Given the description of an element on the screen output the (x, y) to click on. 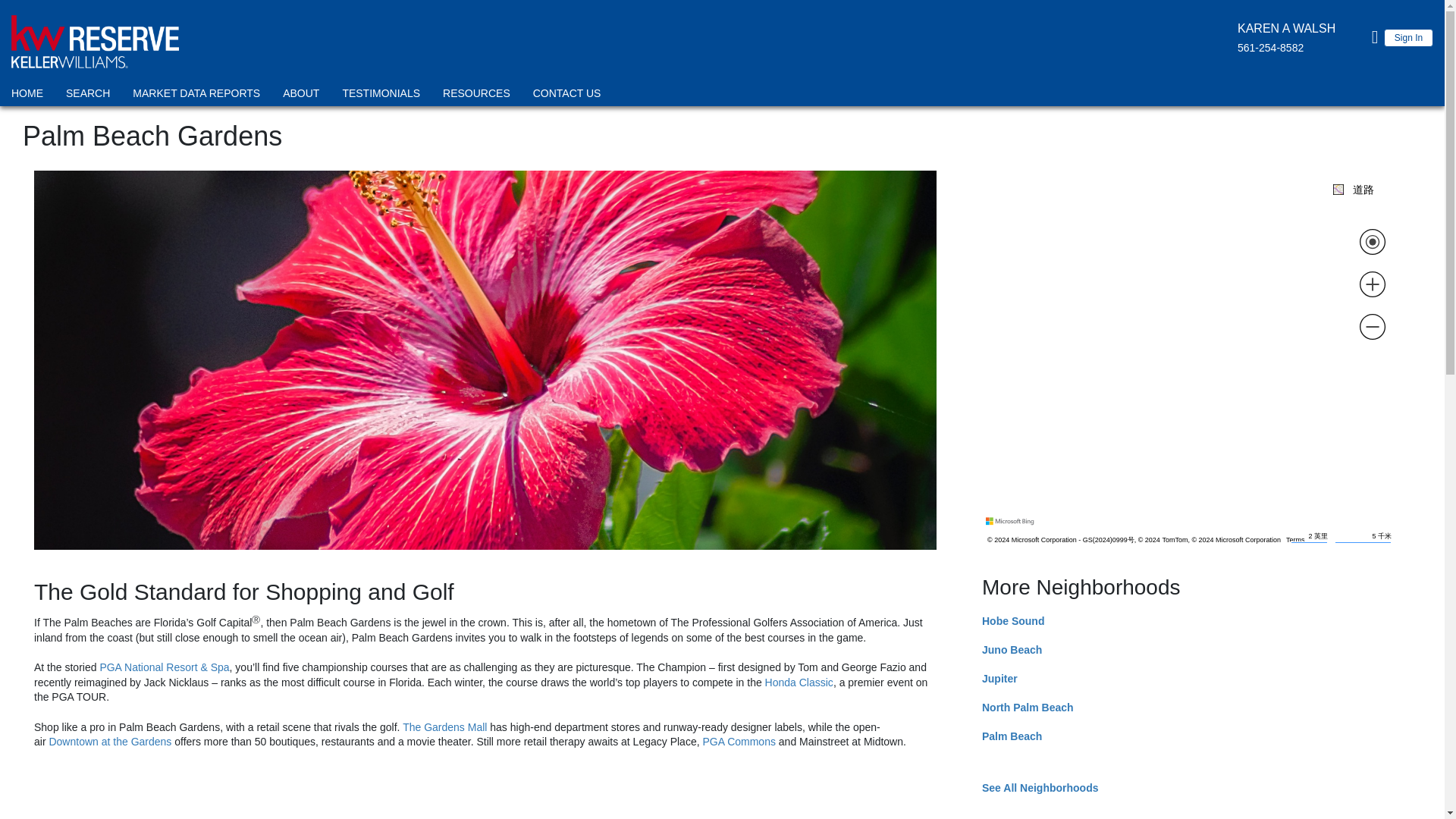
MARKET DATA REPORTS (196, 95)
SEARCH (87, 95)
CONTACT US (567, 95)
PGA Commons (737, 741)
Downtown at the Gardens (109, 741)
TESTIMONIALS (380, 95)
HOME (26, 95)
Microsoft Bing (1011, 521)
Terms (1294, 540)
RESOURCES (476, 95)
